Given the description of an element on the screen output the (x, y) to click on. 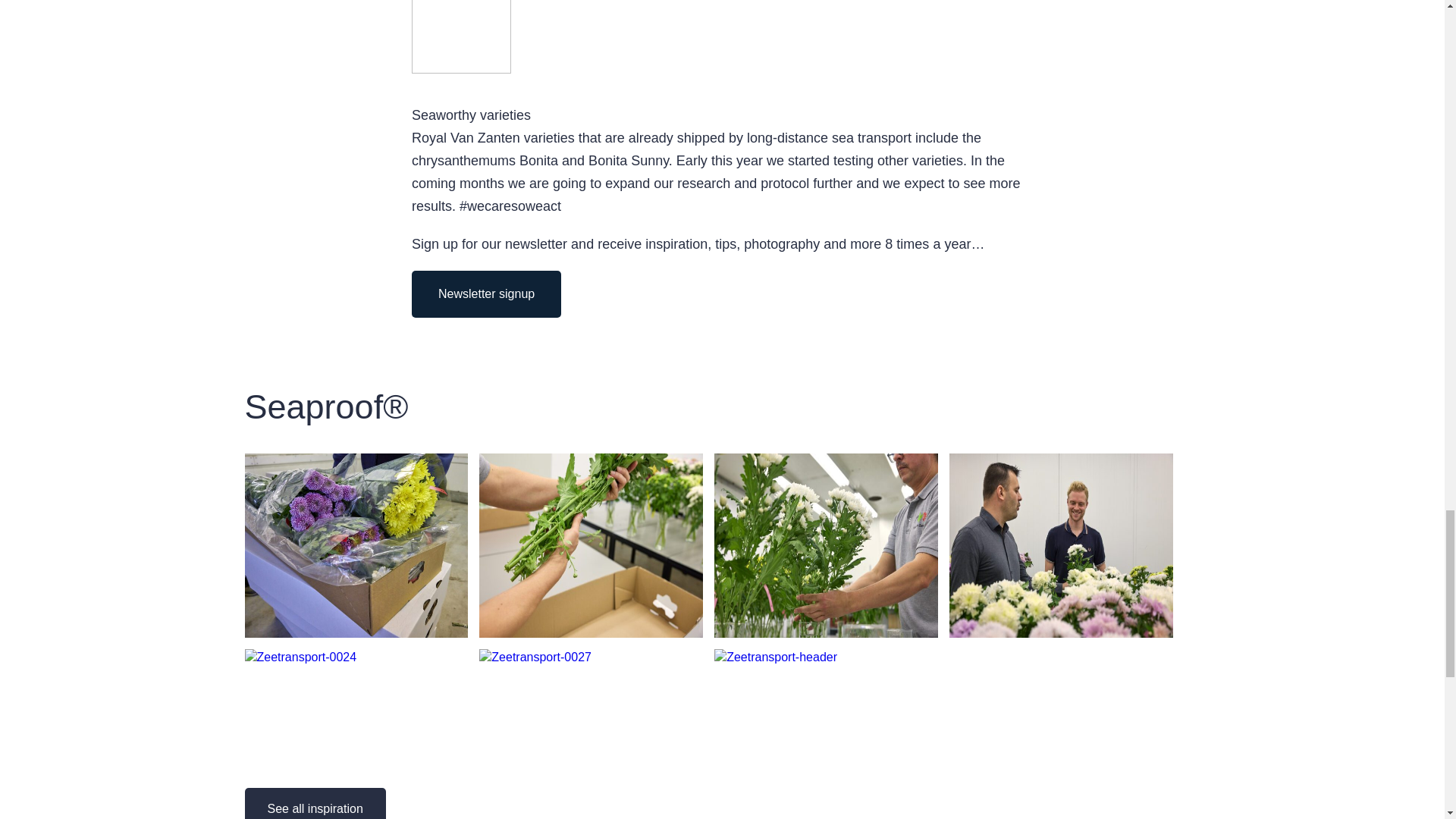
Zeetransport-0024 (355, 791)
Zeetransport-0049 (825, 626)
Zeetransport-0011 (355, 626)
Newsletter signup (486, 287)
Zeetransport-header (825, 791)
Zeetransport-0057 (1061, 626)
Zeetransport-0030 (591, 626)
Zeetransport-0027 (591, 791)
